Given the description of an element on the screen output the (x, y) to click on. 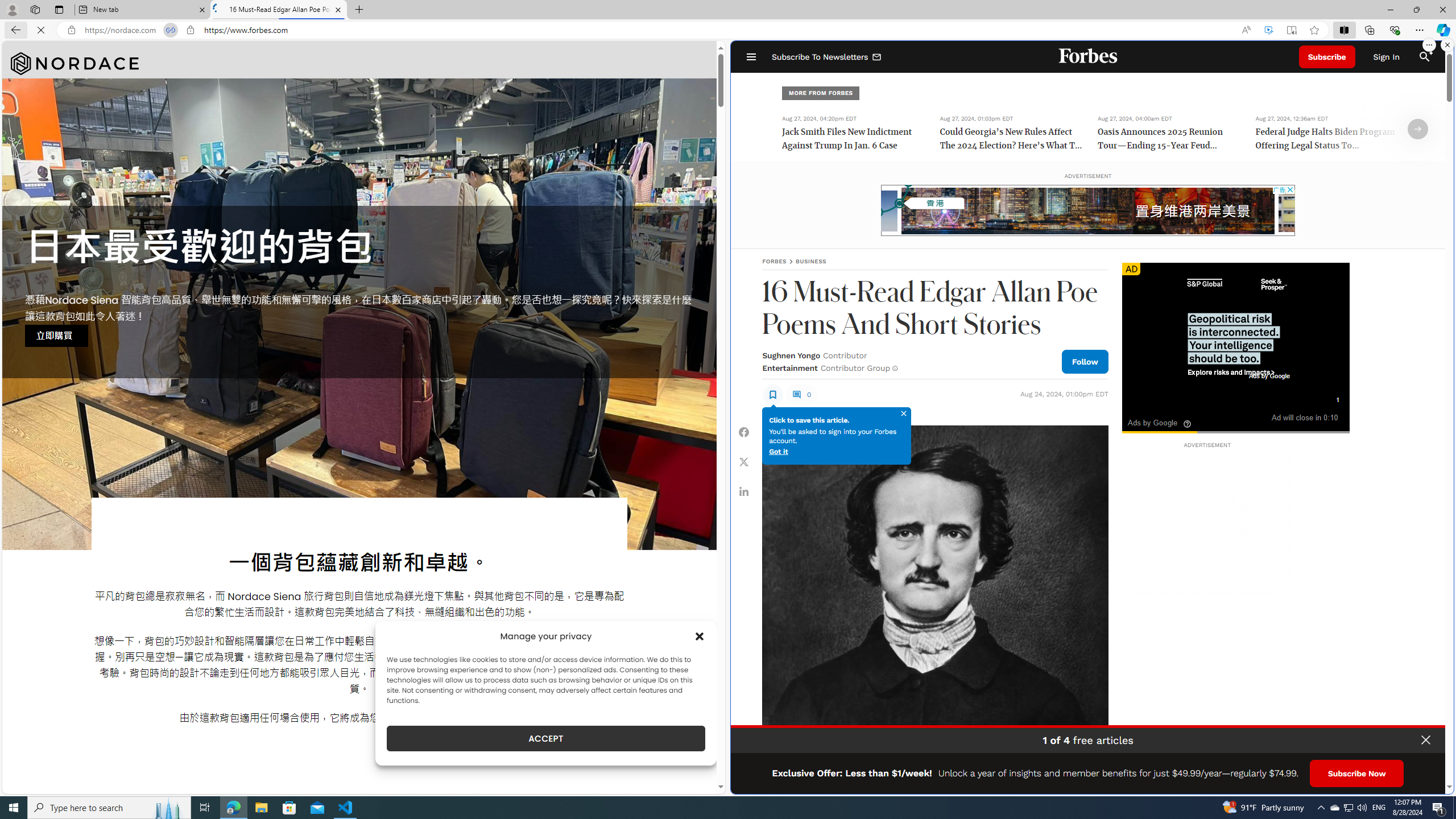
ACCEPT (545, 738)
Follow Author (1084, 360)
Class: wtaIconSvg (1187, 423)
Portrait of Edgar Allan Poe. (934, 598)
Class: sElHJWe4 (772, 394)
Enter Immersive Reader (F9) (1291, 29)
Class: envelope_svg__fs-icon envelope_svg__fs-icon--envelope (877, 57)
Class: close-button unbutton (1425, 740)
